Given the description of an element on the screen output the (x, y) to click on. 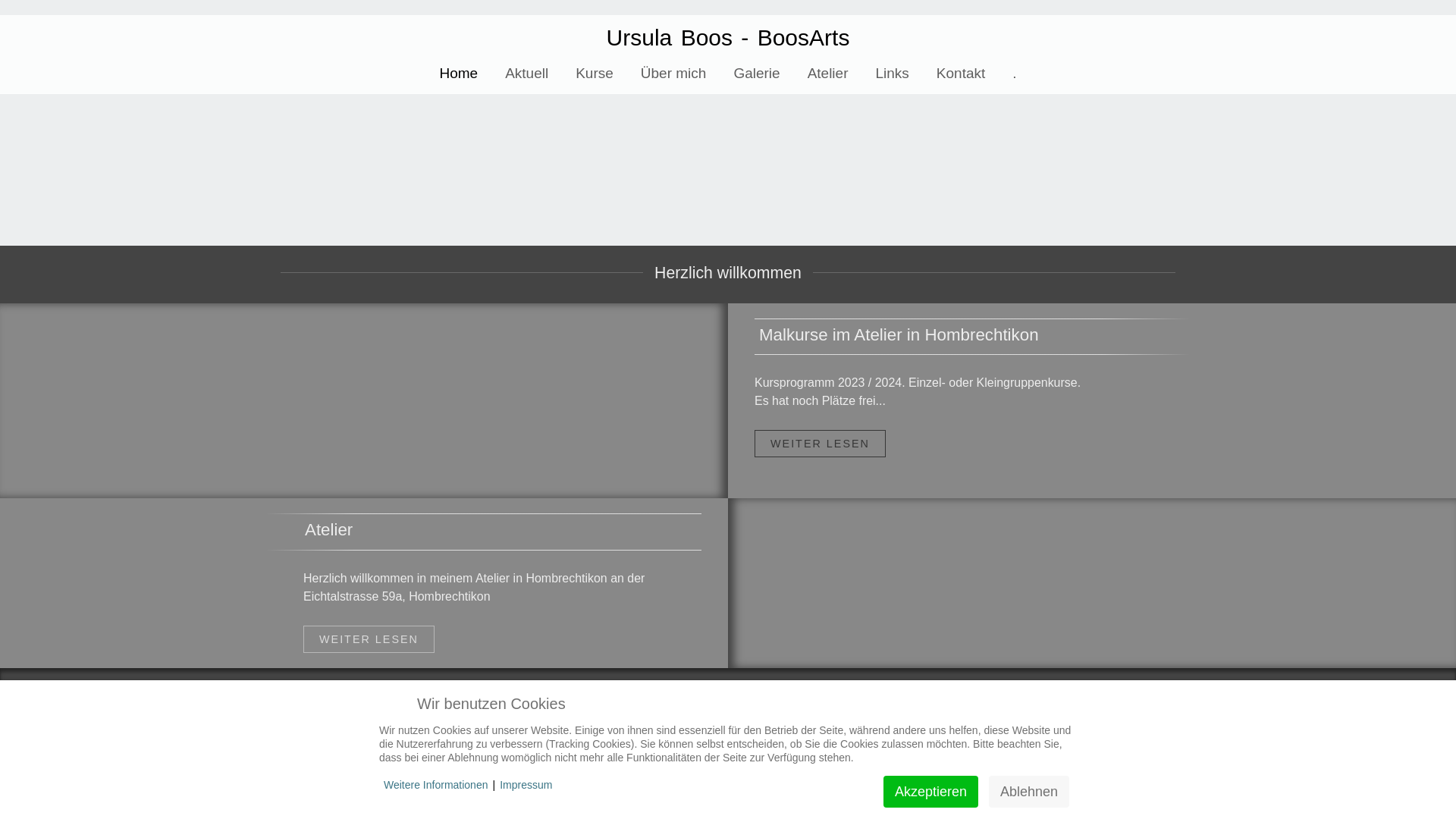
Ursula Boos - BoosArts Element type: text (727, 37)
Atelier Element type: text (827, 73)
WEITER LESEN Element type: text (819, 443)
Datenschutz Element type: text (737, 761)
< Element type: text (14, 118)
Weitere Informationen Element type: text (435, 784)
Galerie Element type: text (756, 73)
Links Element type: text (891, 73)
Log-out Element type: text (807, 761)
ocean Element type: text (364, 400)
kontakt@boosarts.ch Element type: text (957, 696)
Aktuell Element type: text (526, 73)
> Element type: text (1440, 118)
Ablehnen Element type: text (1028, 791)
Akzeptieren Element type: text (930, 791)
. Element type: text (1013, 73)
Impressum Element type: text (525, 784)
WEITER LESEN Element type: text (368, 638)
Home Element type: text (458, 73)
Kontakt Element type: text (960, 73)
Impressum Element type: text (655, 761)
Kurse Element type: text (594, 73)
